Given the description of an element on the screen output the (x, y) to click on. 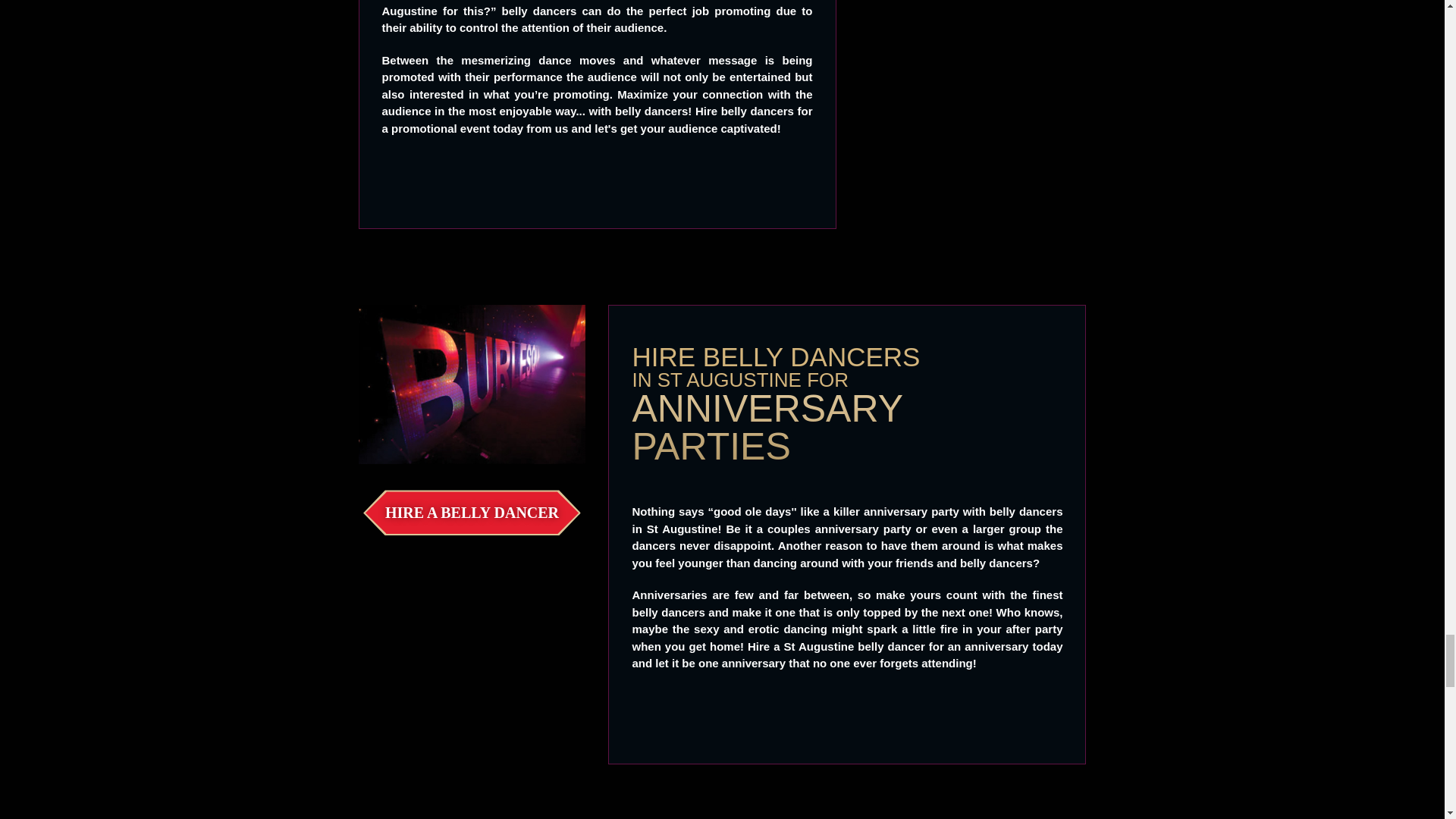
HIRE A BELLY DANCER (471, 512)
